Given the description of an element on the screen output the (x, y) to click on. 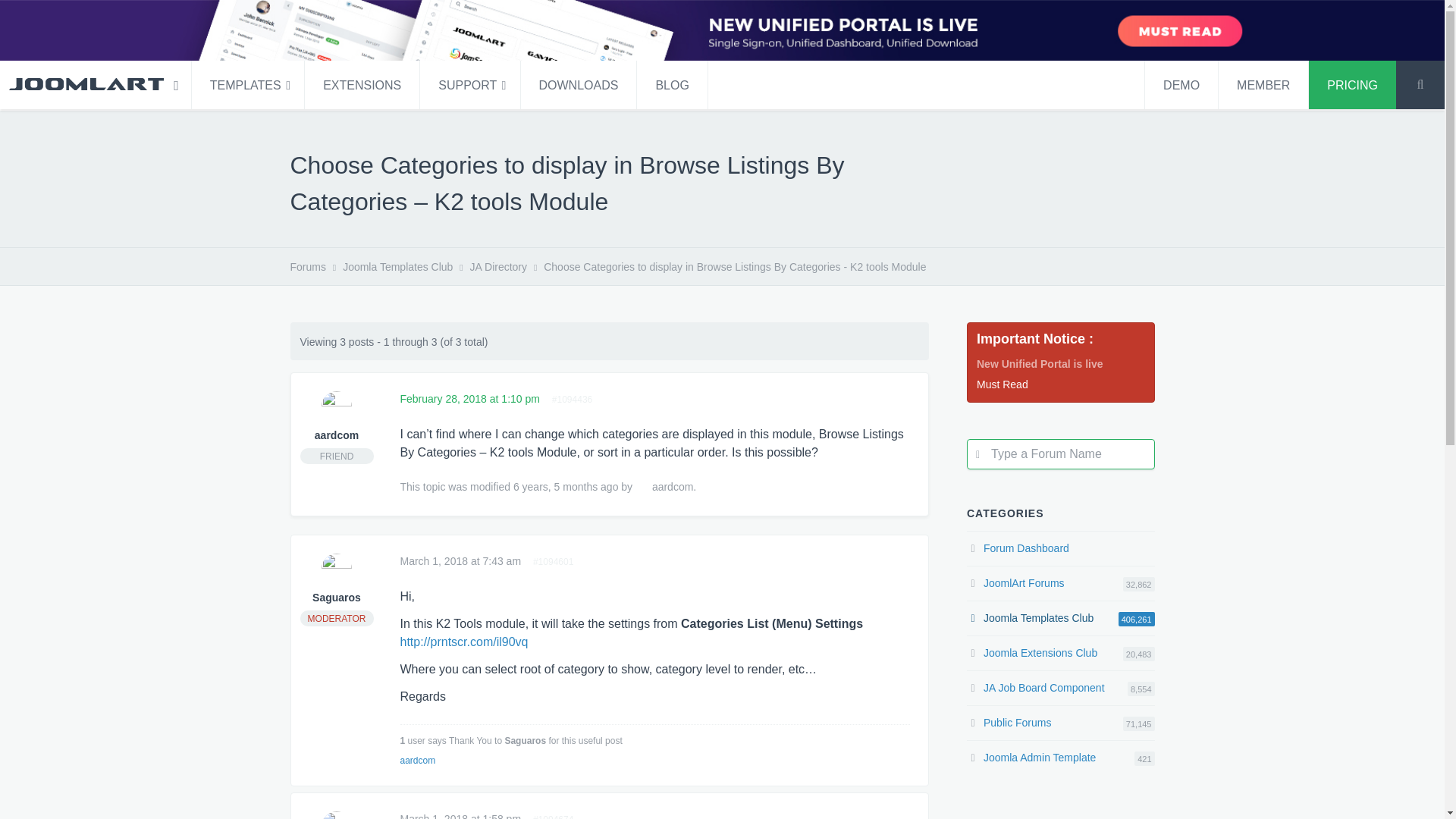
Forum Role (336, 455)
EXTENSIONS (361, 84)
View aardcom's profile (641, 486)
DOWNLOADS (579, 84)
SUPPORT (469, 84)
View aardcom's profile (336, 435)
View aardcom's profile (336, 406)
BLOG (671, 84)
View Saguaros's profile (336, 568)
TEMPLATES (248, 84)
